Given the description of an element on the screen output the (x, y) to click on. 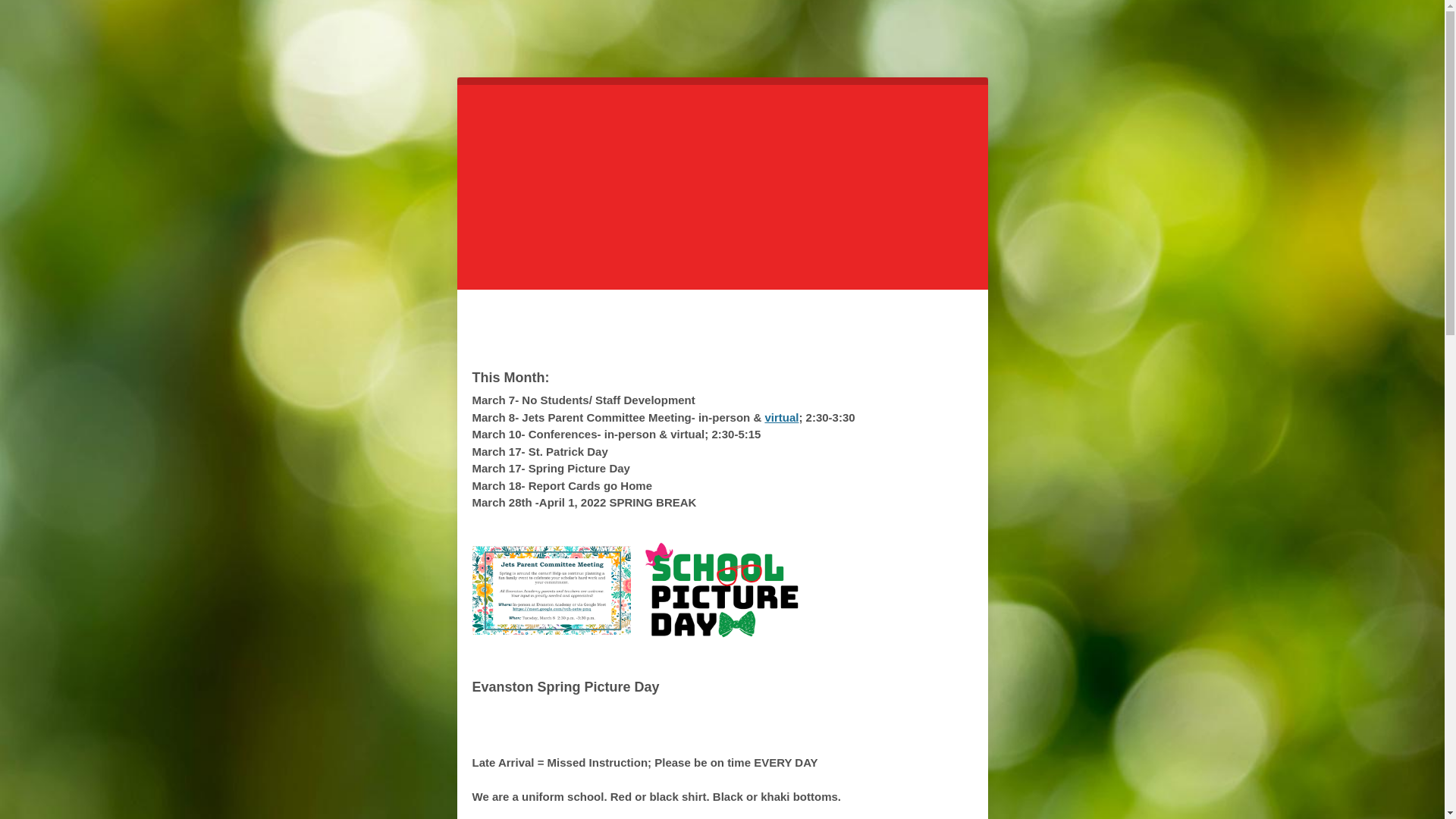
AM; (903, 316)
AT (824, 316)
Breakfast: (680, 339)
7:45 (860, 316)
Reminders (721, 734)
virtual (780, 417)
SCHOOL (691, 316)
7:20-7:50 (771, 339)
BEGINS (773, 316)
